Given the description of an element on the screen output the (x, y) to click on. 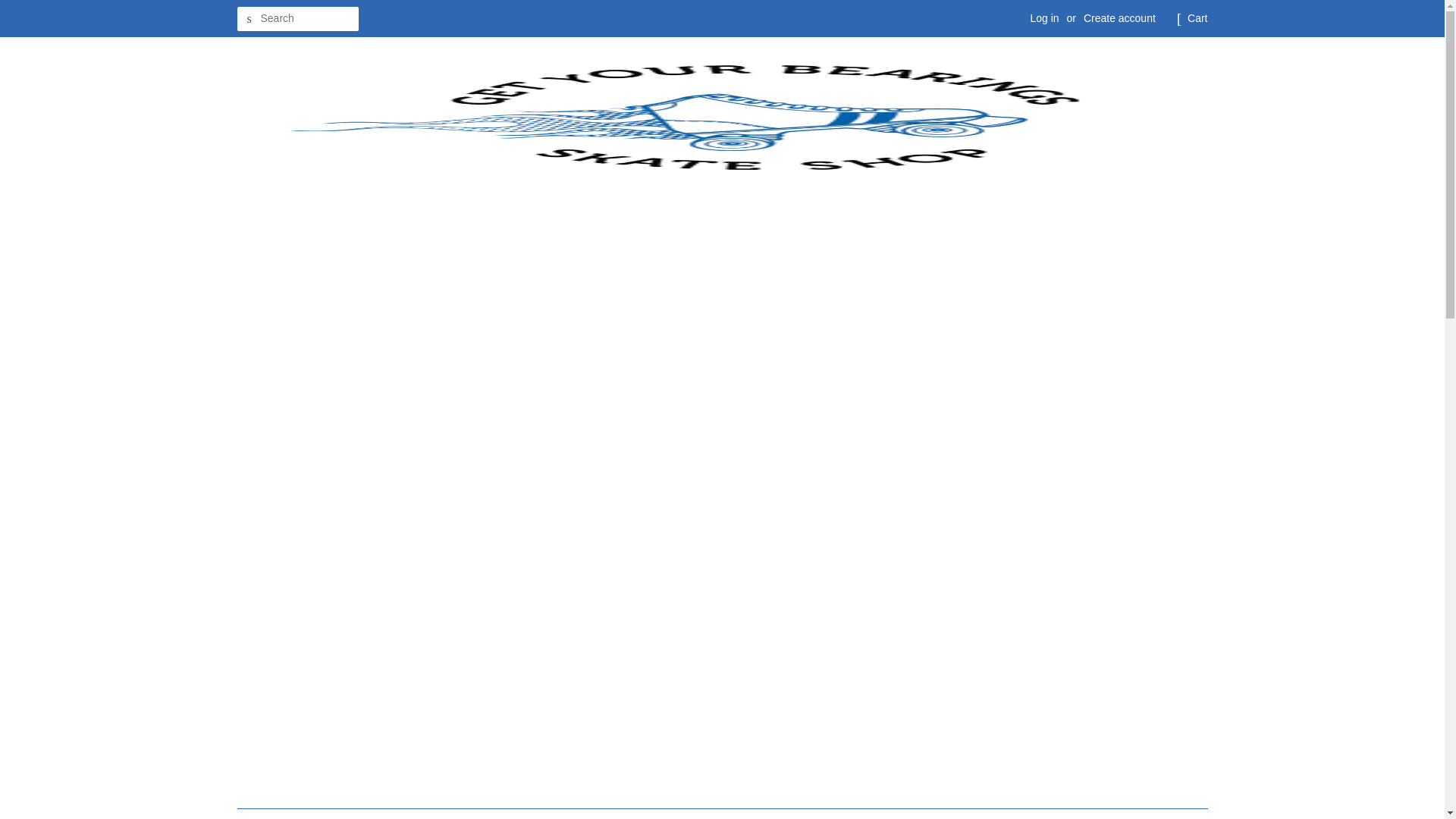
Create account (1119, 18)
Cart (1197, 18)
Search (247, 18)
Log in (1043, 18)
